Given the description of an element on the screen output the (x, y) to click on. 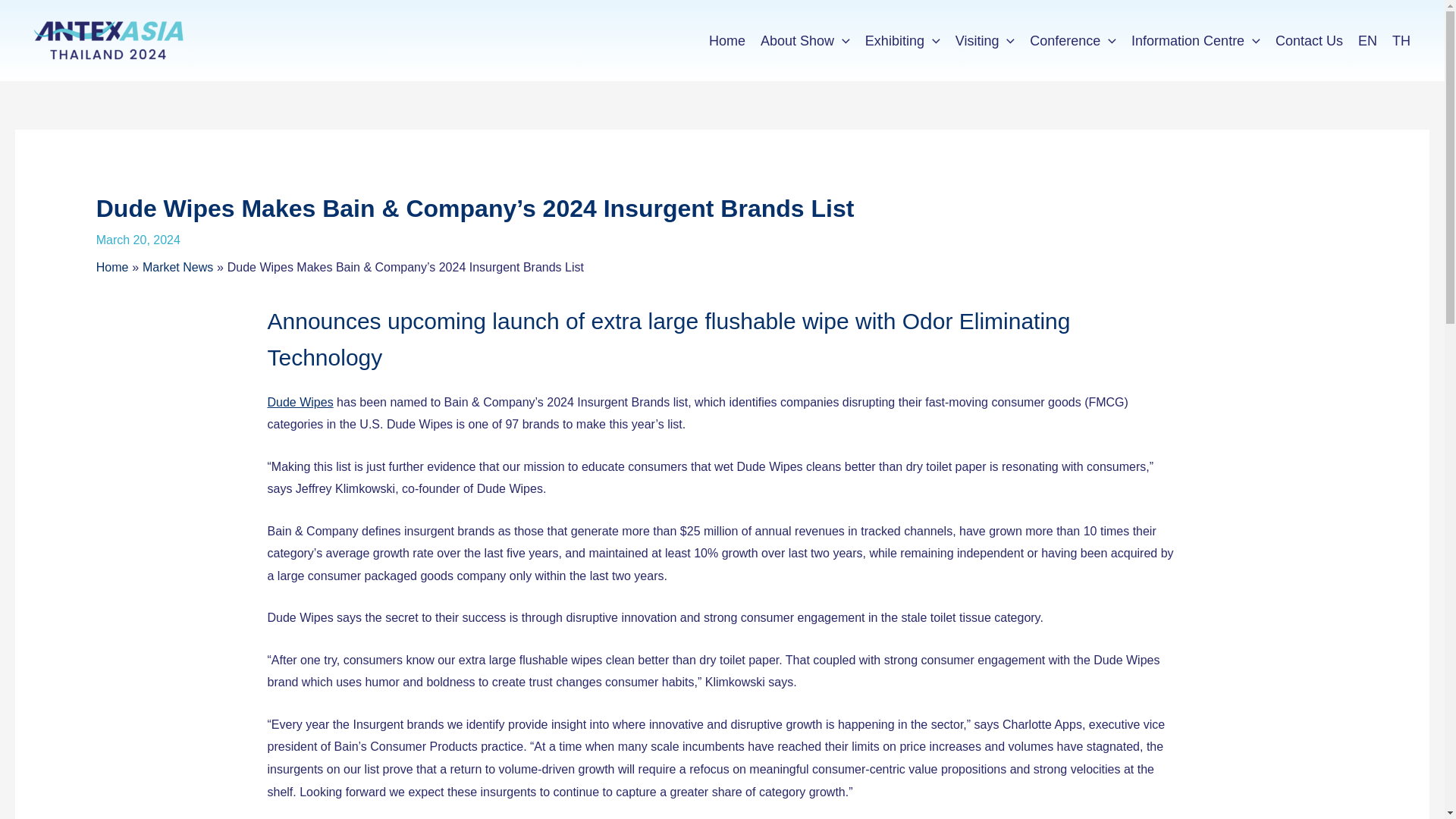
Information Centre (1196, 40)
Visiting (985, 40)
About Show (804, 40)
Exhibiting (902, 40)
Conference (1073, 40)
Contact Us (1309, 40)
